Given the description of an element on the screen output the (x, y) to click on. 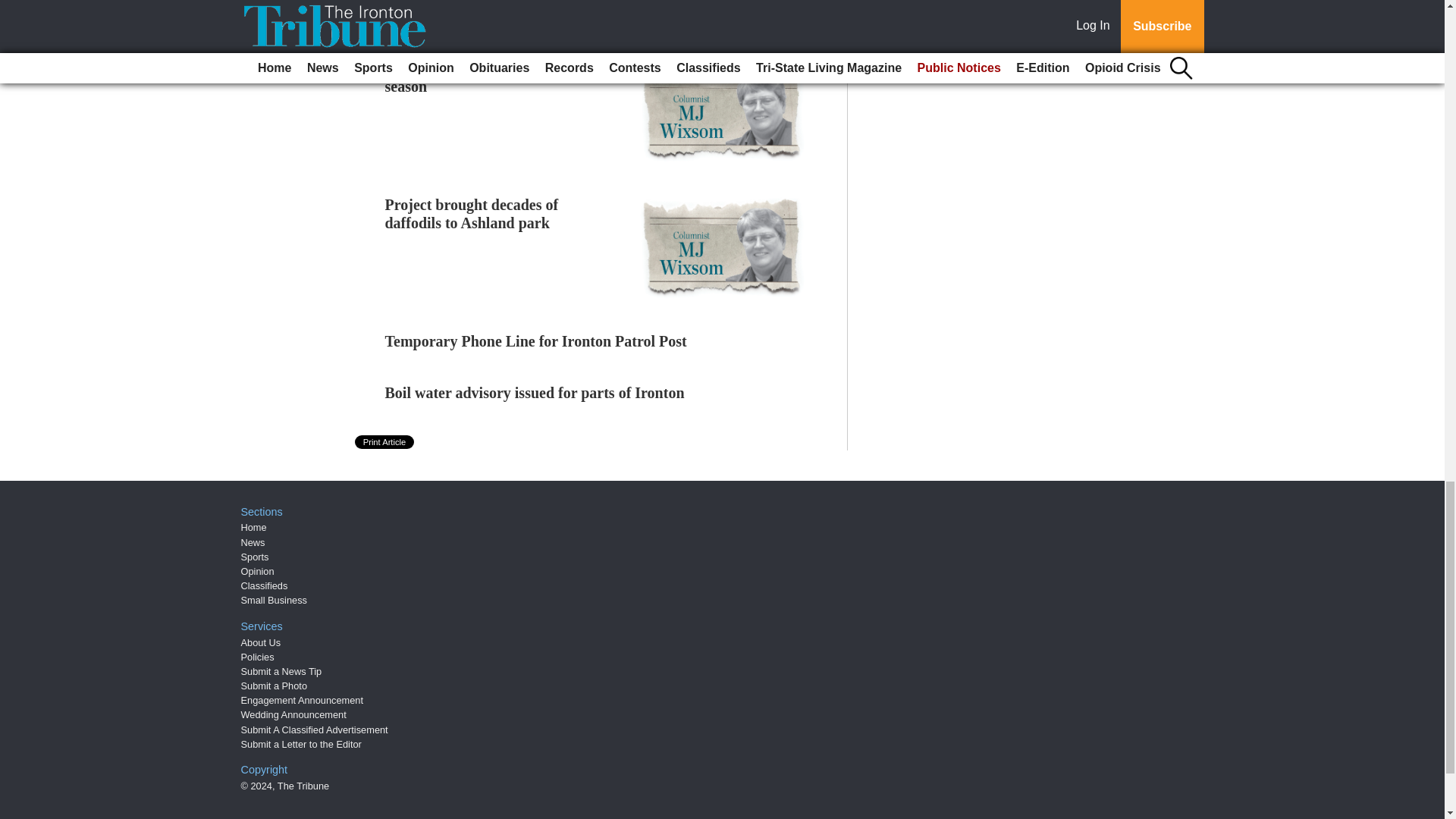
Print Article (384, 441)
Sports (255, 556)
Temporary Phone Line for Ironton Patrol Post (536, 340)
News (252, 542)
Boil water advisory issued for parts of Ironton (534, 392)
MJ Wixsom: It is kitty adoption season (488, 77)
Boil water advisory issued for parts of Ironton (534, 392)
Project brought decades of daffodils to Ashland park (472, 213)
Temporary Phone Line for Ironton Patrol Post (536, 340)
Home (253, 527)
Opinion (258, 571)
MJ Wixsom: It is kitty adoption season (488, 77)
Project brought decades of daffodils to Ashland park (472, 213)
